Given the description of an element on the screen output the (x, y) to click on. 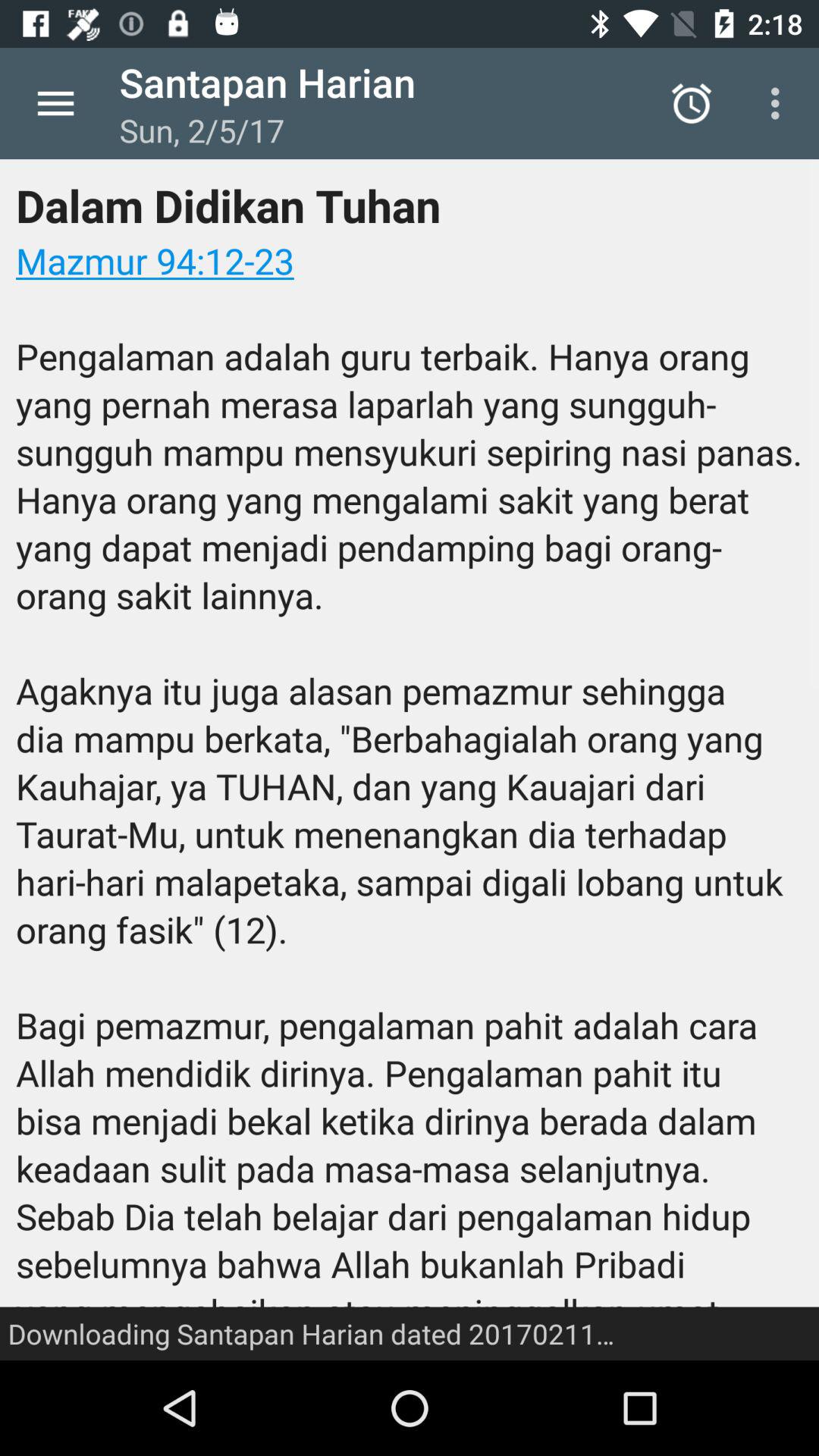
click the icon above dalam didikan tuhan item (779, 103)
